Given the description of an element on the screen output the (x, y) to click on. 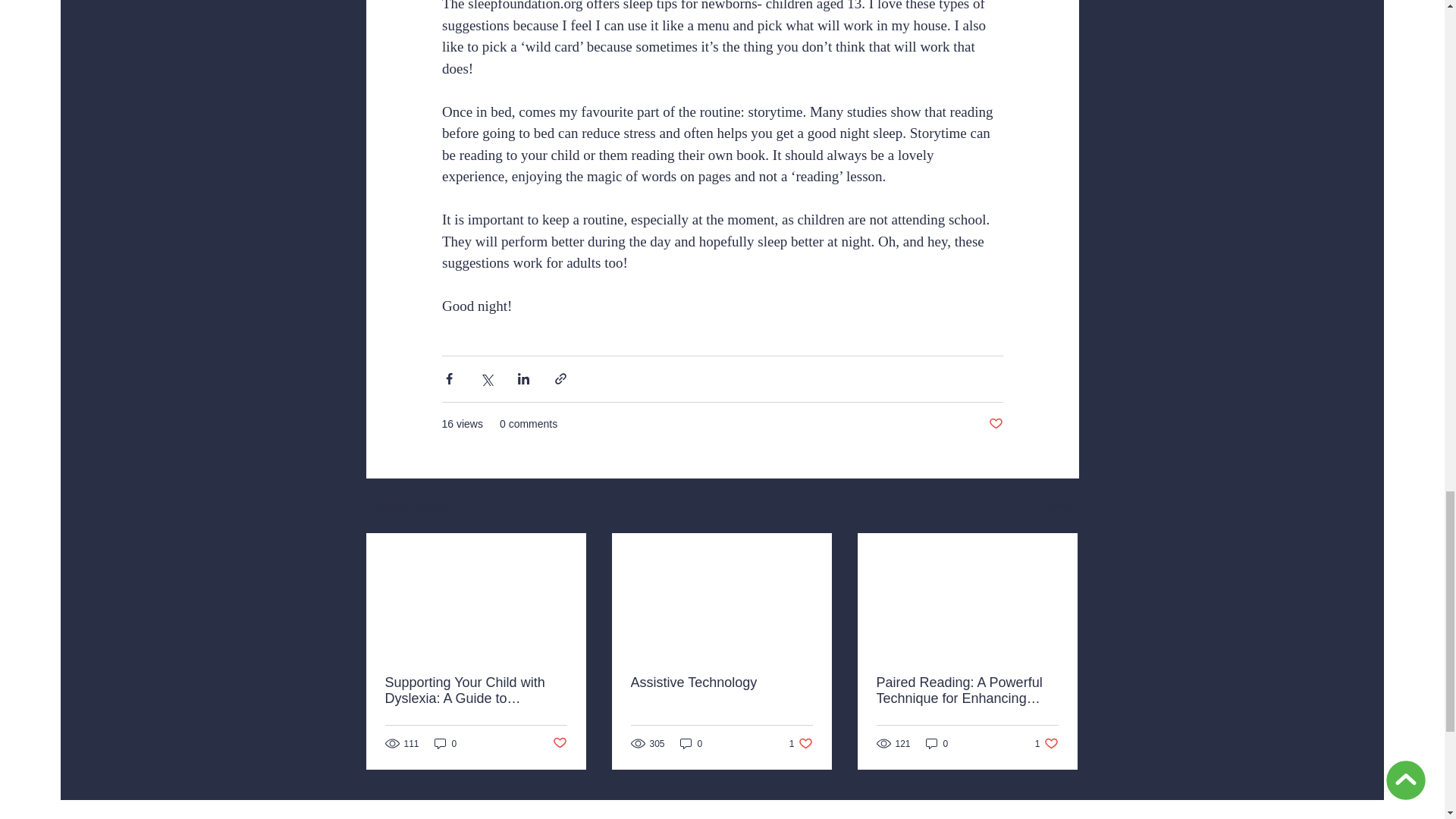
Post not marked as liked (995, 424)
Post not marked as liked (558, 743)
0 (800, 743)
0 (1046, 743)
See All (691, 743)
0 (445, 743)
Assistive Technology (1061, 506)
